Given the description of an element on the screen output the (x, y) to click on. 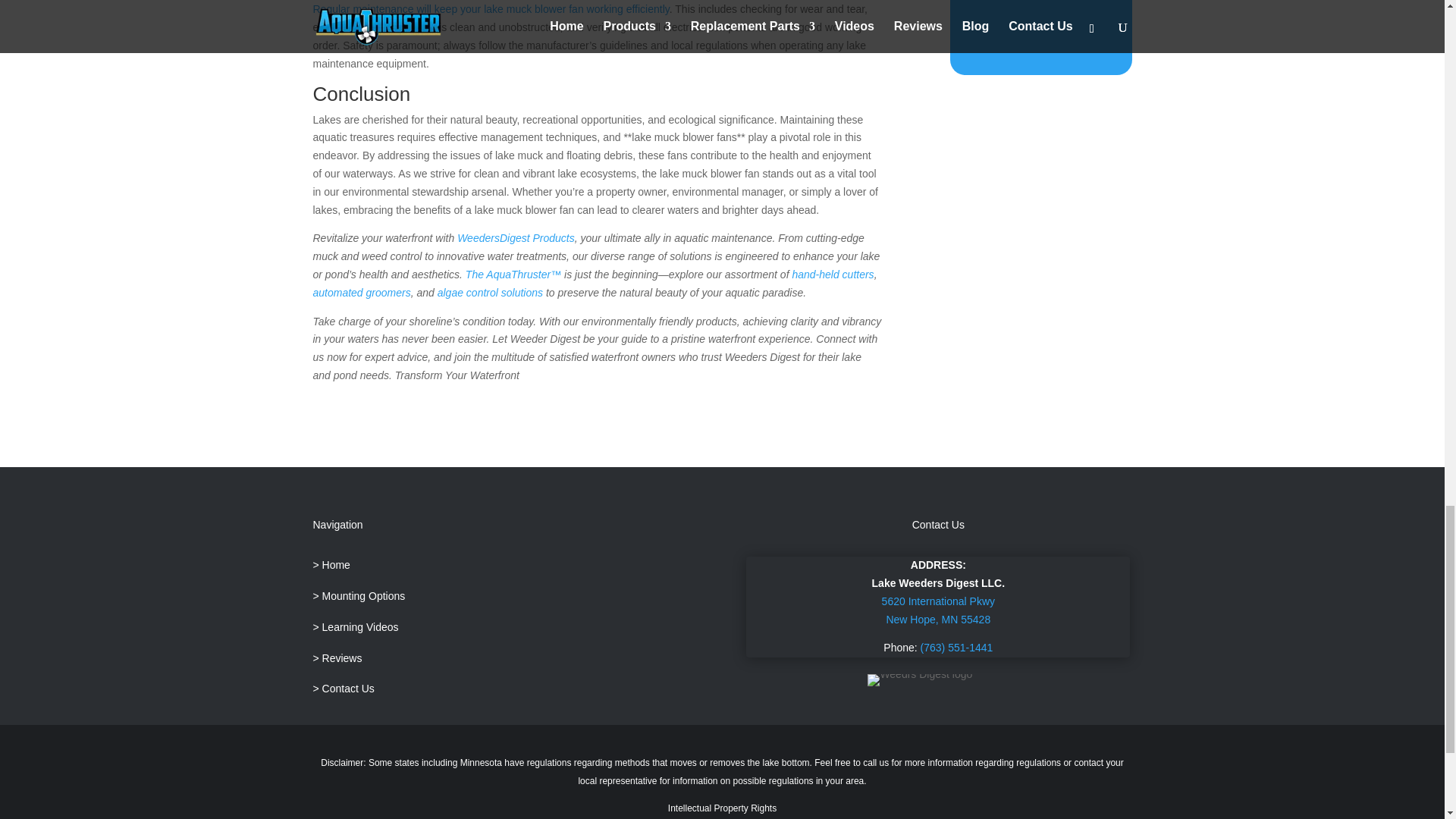
automated groomers (361, 292)
hand-held cutters (832, 274)
New Hope, MN 55428 (937, 619)
algae control solutions (490, 292)
WeedersDigest Products (516, 237)
wd logo png for dark background (919, 680)
5620 International Pkwy (938, 601)
